Given the description of an element on the screen output the (x, y) to click on. 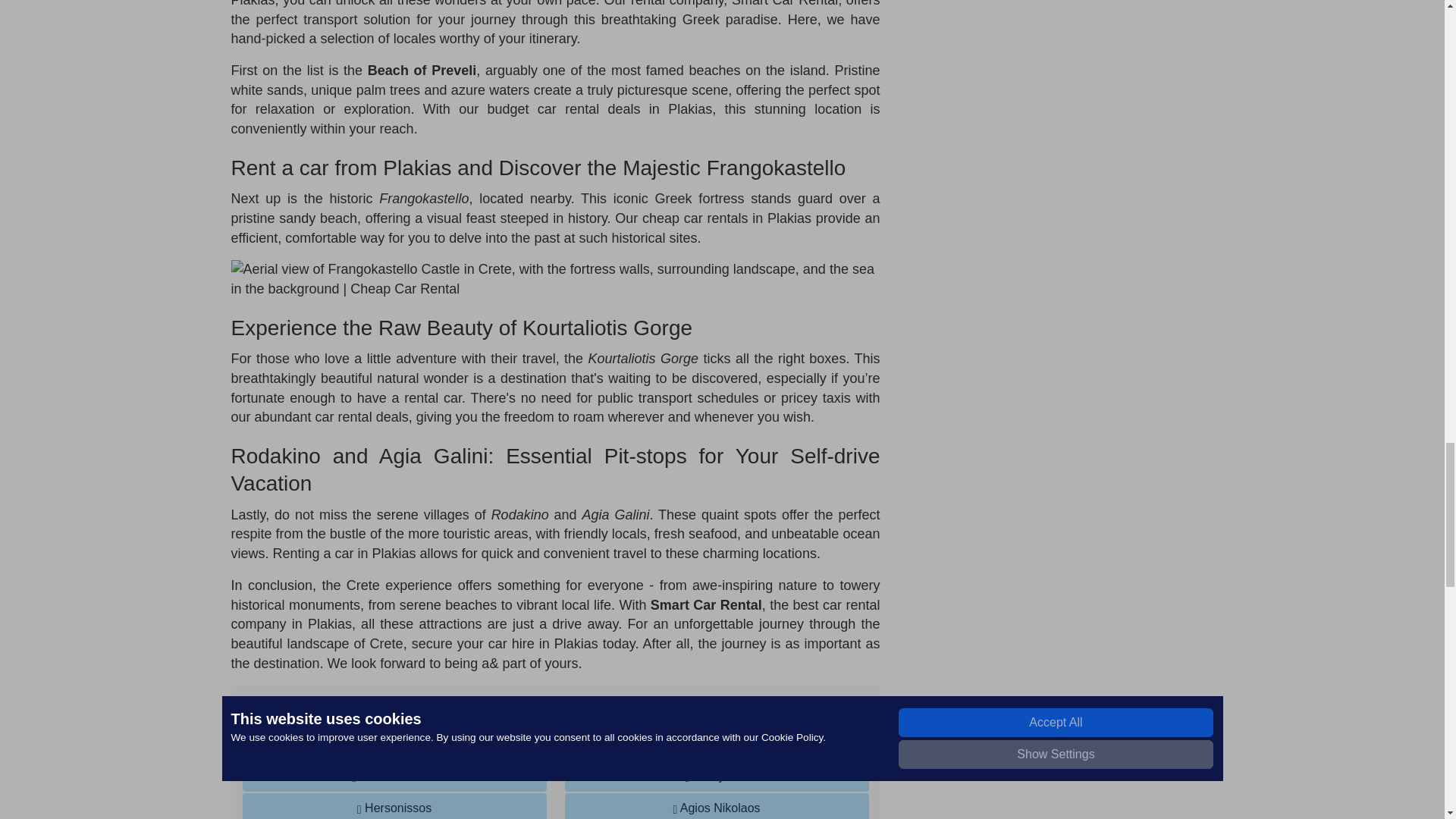
Aerial View of Frangokastello Castle, Crete (554, 279)
